Given the description of an element on the screen output the (x, y) to click on. 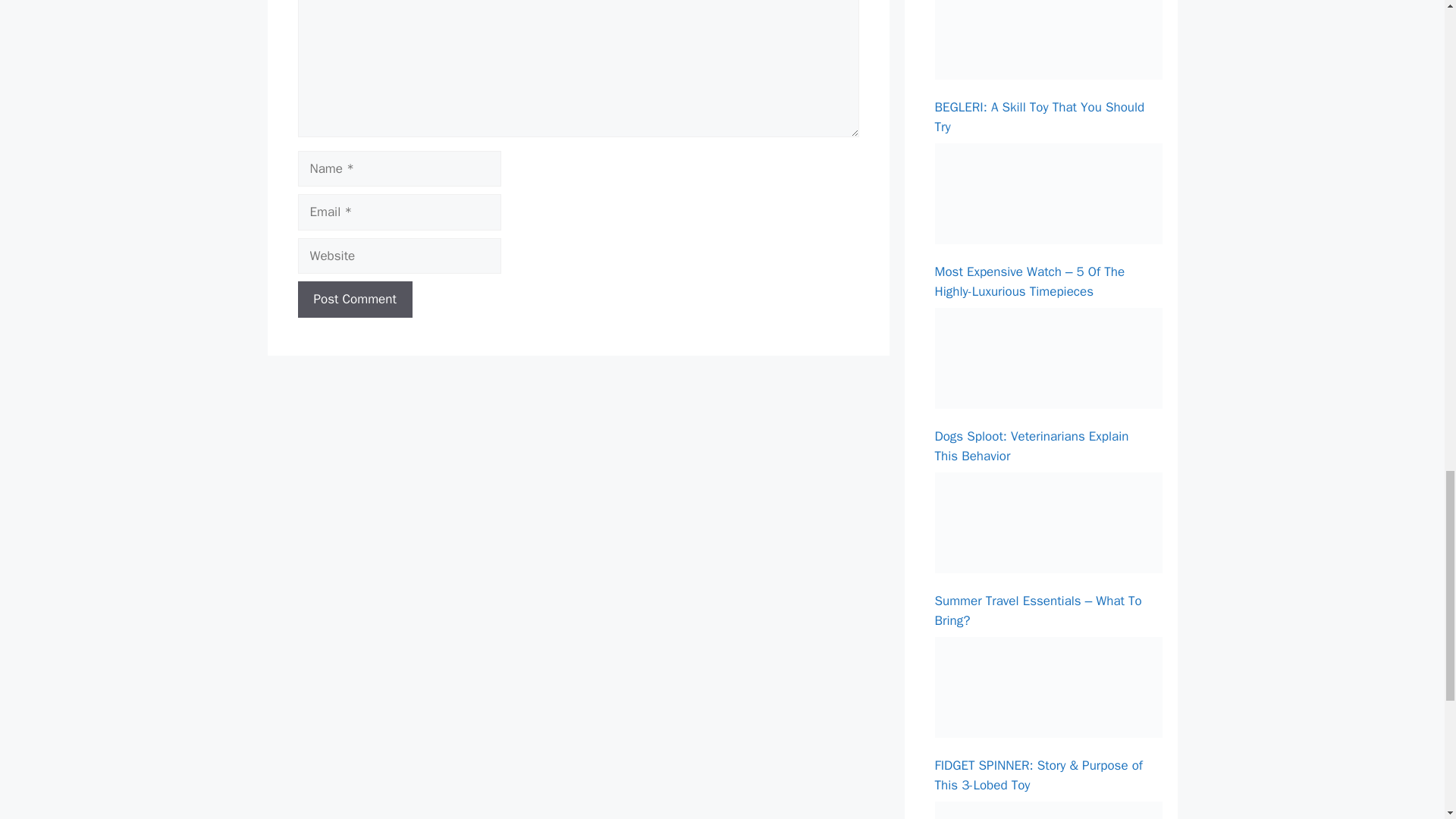
Post Comment (354, 299)
Post Comment (354, 299)
